Given the description of an element on the screen output the (x, y) to click on. 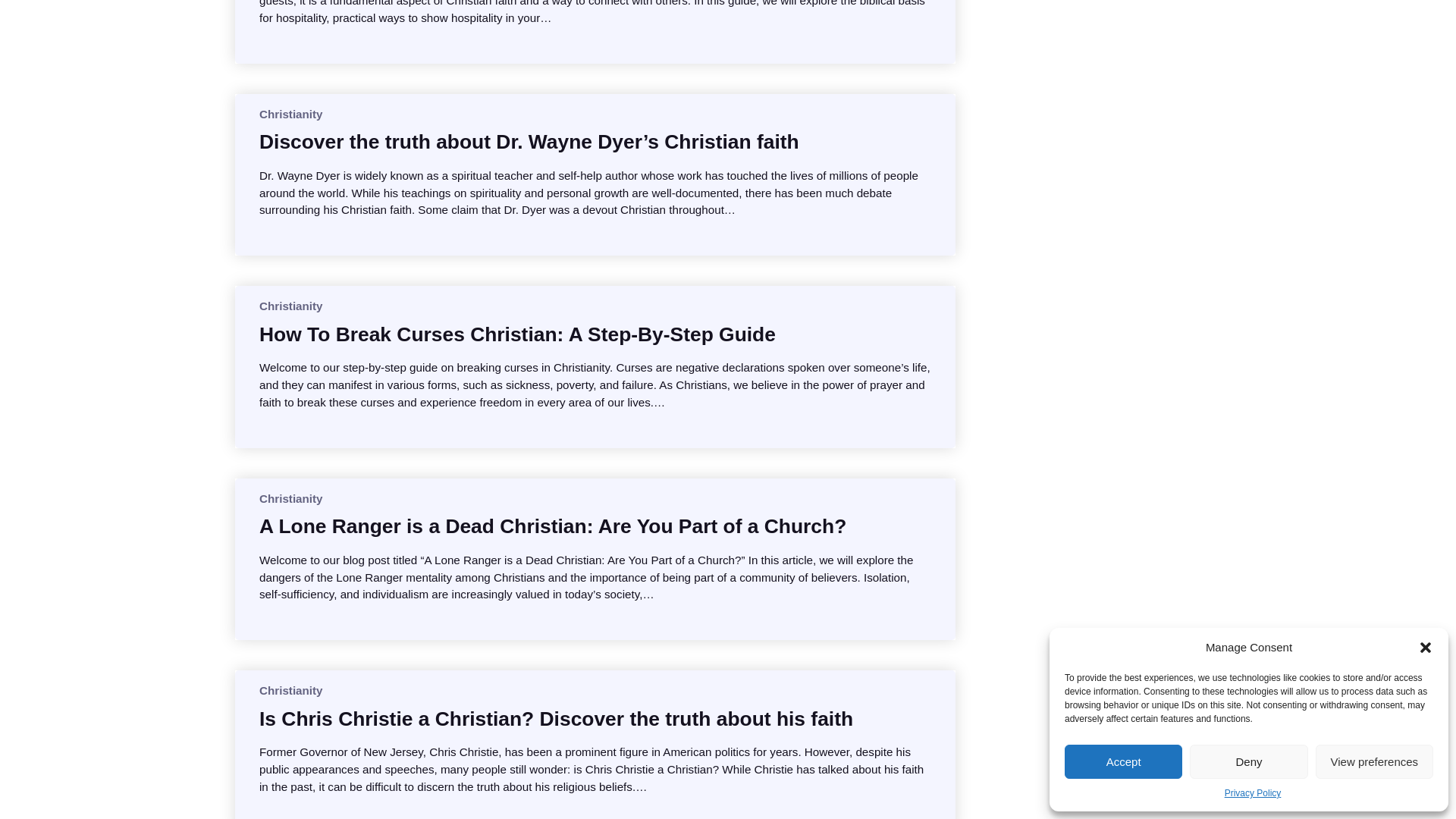
Christianity (291, 498)
Christianity (291, 305)
A Lone Ranger is a Dead Christian: Are You Part of a Church? (552, 525)
How To Break Curses Christian: A Step-By-Step Guide (517, 334)
Christianity (291, 689)
Christianity (291, 113)
